Given the description of an element on the screen output the (x, y) to click on. 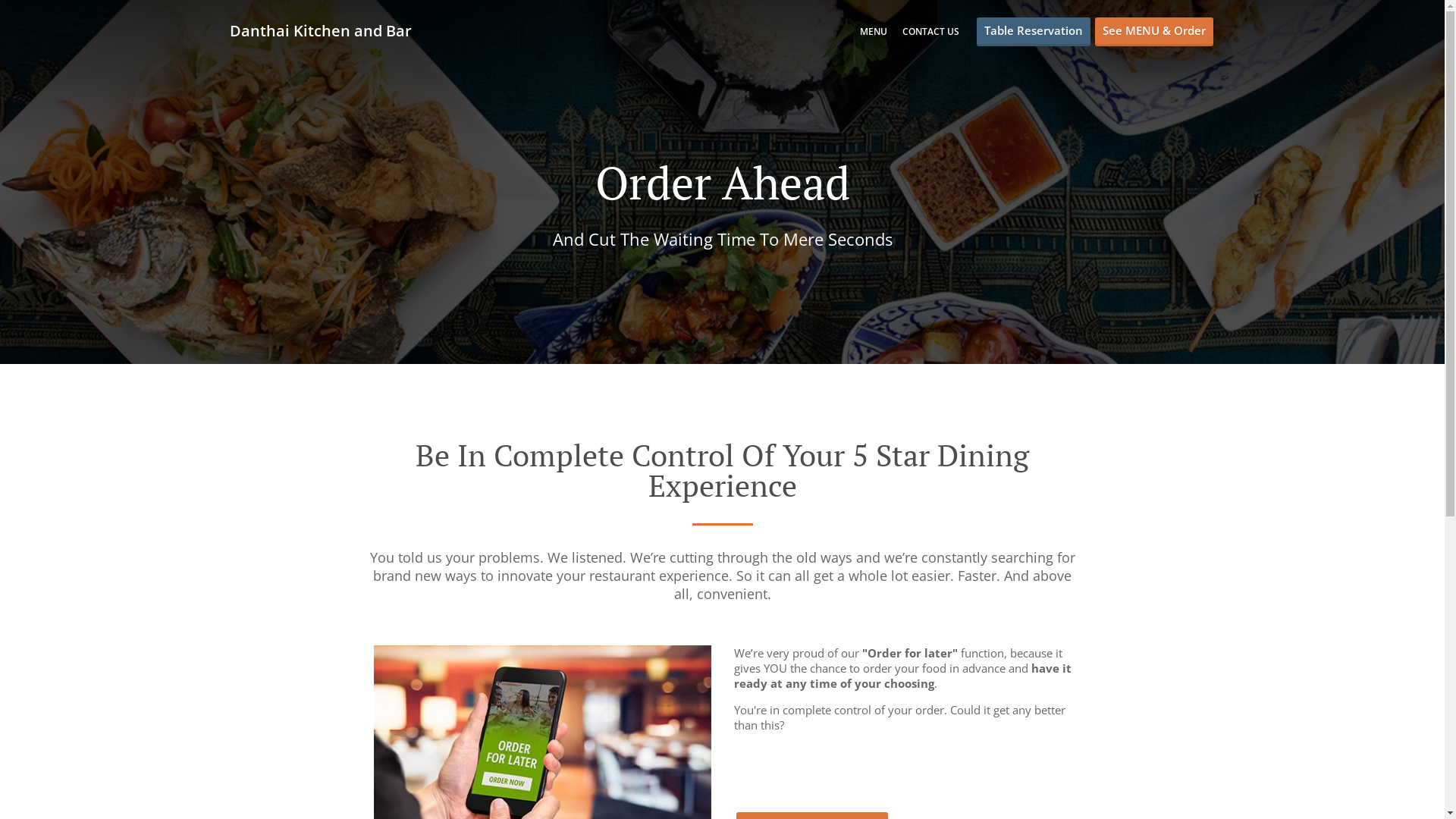
MENU Element type: text (873, 31)
CONTACT US Element type: text (930, 31)
Danthai Kitchen and Bar Element type: text (327, 30)
